Given the description of an element on the screen output the (x, y) to click on. 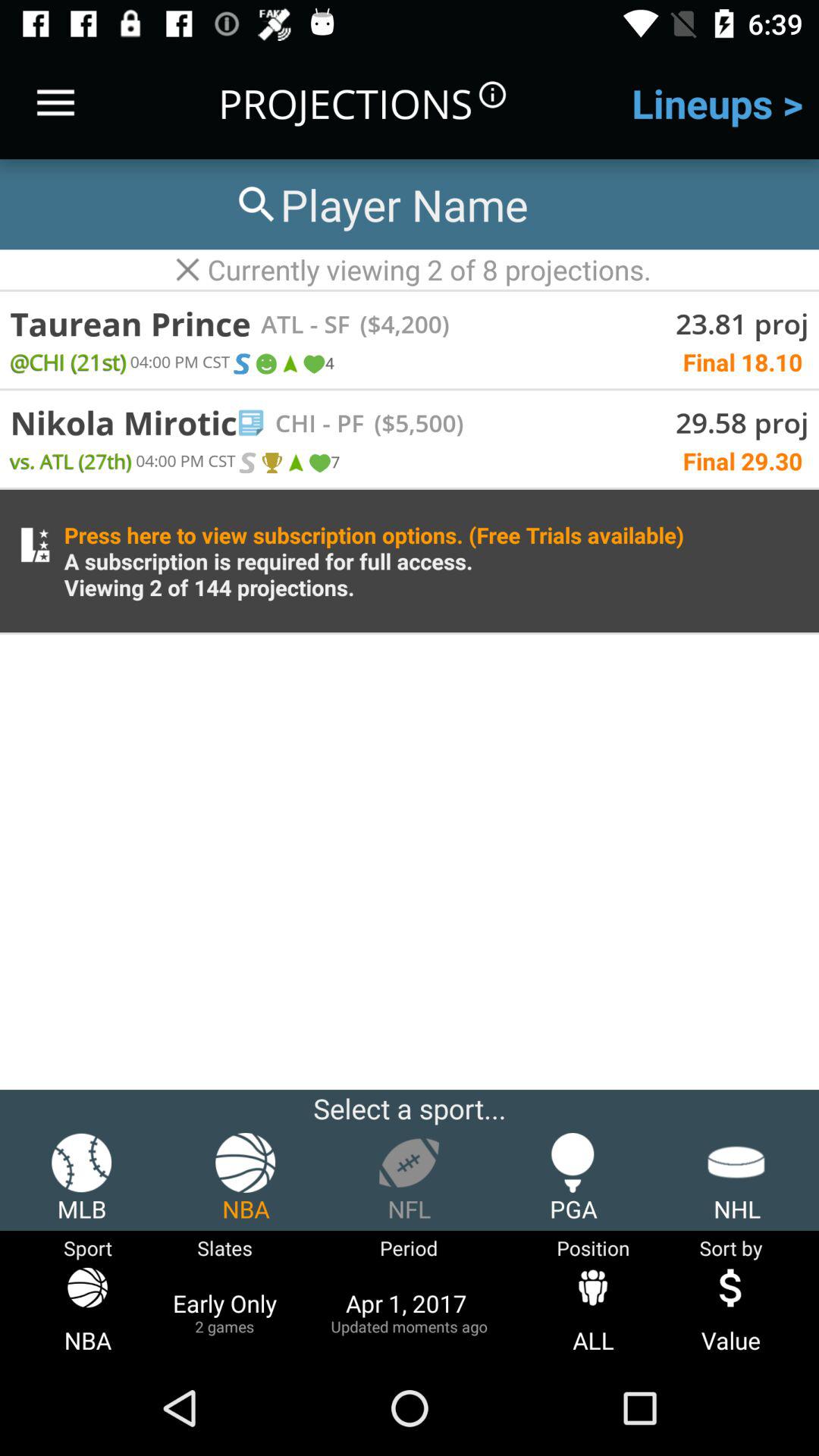
press the icon next to the ($5,500) icon (340, 422)
